Given the description of an element on the screen output the (x, y) to click on. 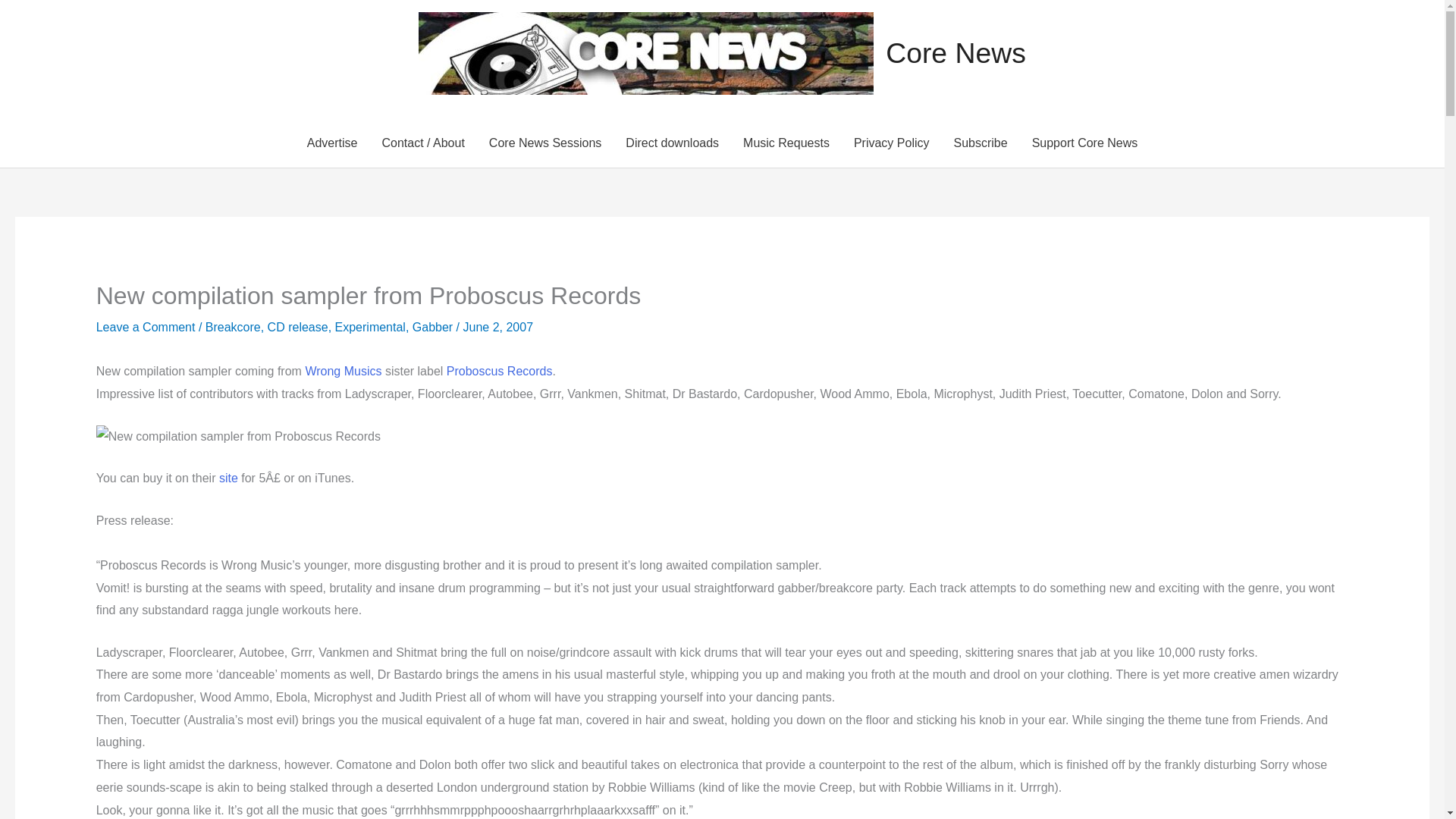
Wrong Musics (342, 370)
Proboscus Records (499, 370)
Privacy Policy (891, 142)
Core News Sessions (545, 142)
Experimental (370, 327)
Breakcore (232, 327)
Direct downloads (671, 142)
Advertise (332, 142)
site (228, 477)
Gabber (432, 327)
Core News (955, 52)
Subscribe (979, 142)
Music Requests (785, 142)
Support Core News (1085, 142)
CD release (298, 327)
